Given the description of an element on the screen output the (x, y) to click on. 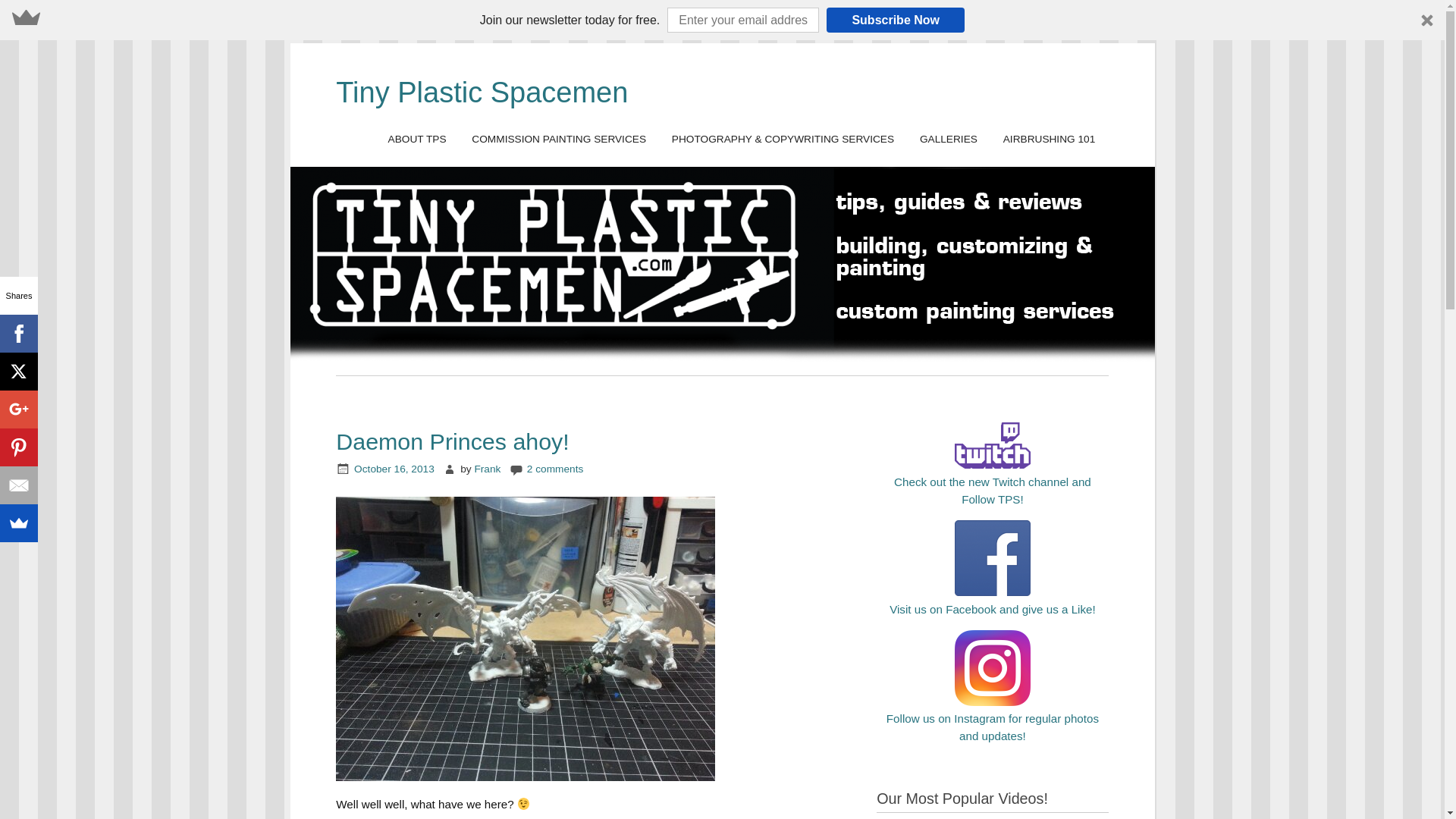
SumoMe (18, 523)
Email (18, 485)
Facebook (18, 333)
AIRBRUSHING 101 (1048, 139)
Tiny Plastic Spacemen (481, 92)
October 16, 2013 (393, 469)
Subscribe Now (895, 19)
View all posts by Frank (487, 469)
ABOUT TPS (416, 139)
COMMISSION PAINTING SERVICES (559, 139)
Tiny Plastic Spacemen (481, 92)
Visit us on Facebook and give us a Like! (992, 600)
Check out the new Twitch channel and Follow TPS! (991, 481)
Pinterest (18, 447)
11:40 pm (393, 469)
